Given the description of an element on the screen output the (x, y) to click on. 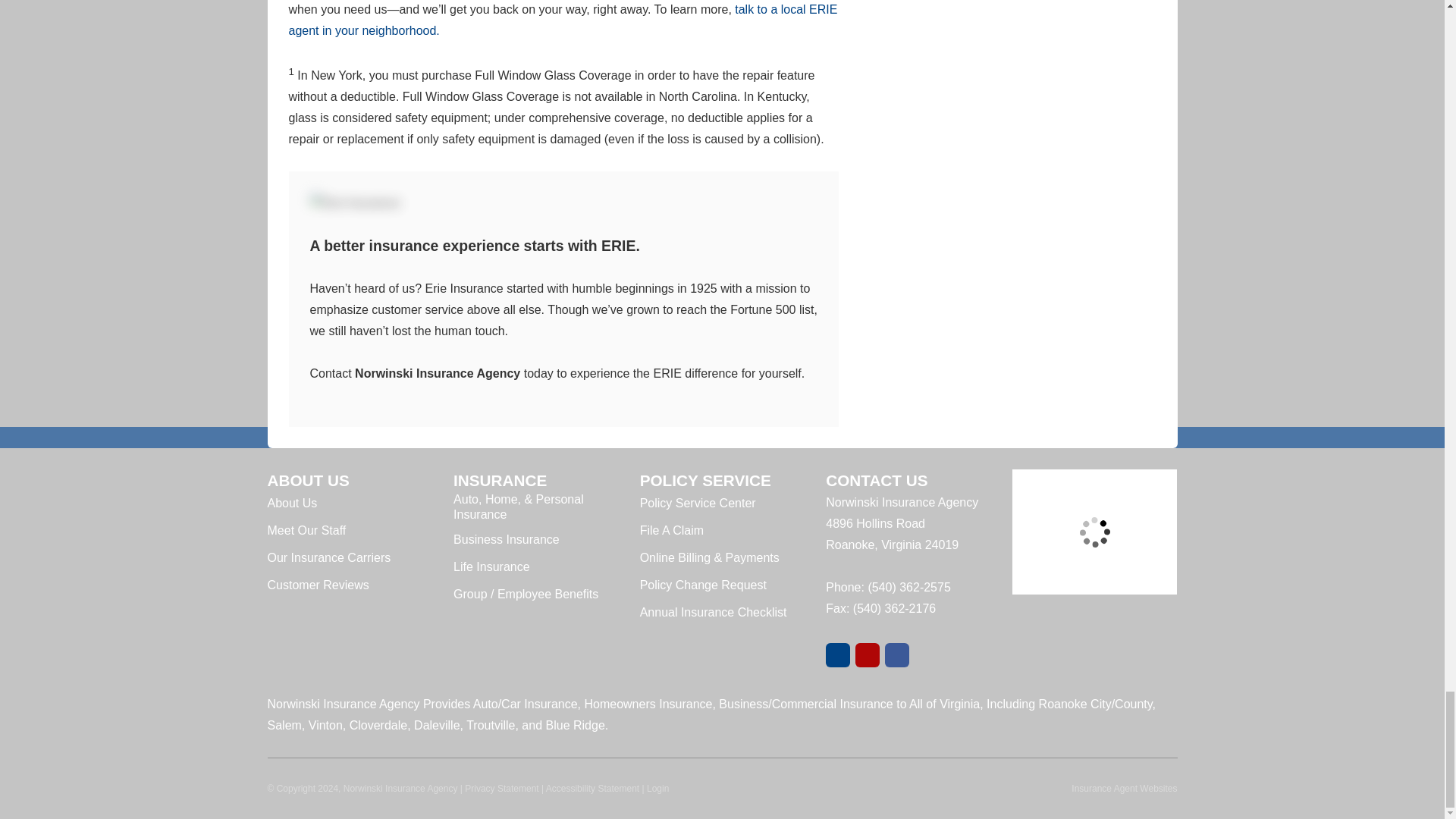
Yelp (867, 654)
Facebook (896, 654)
Google Maps (837, 654)
